Given the description of an element on the screen output the (x, y) to click on. 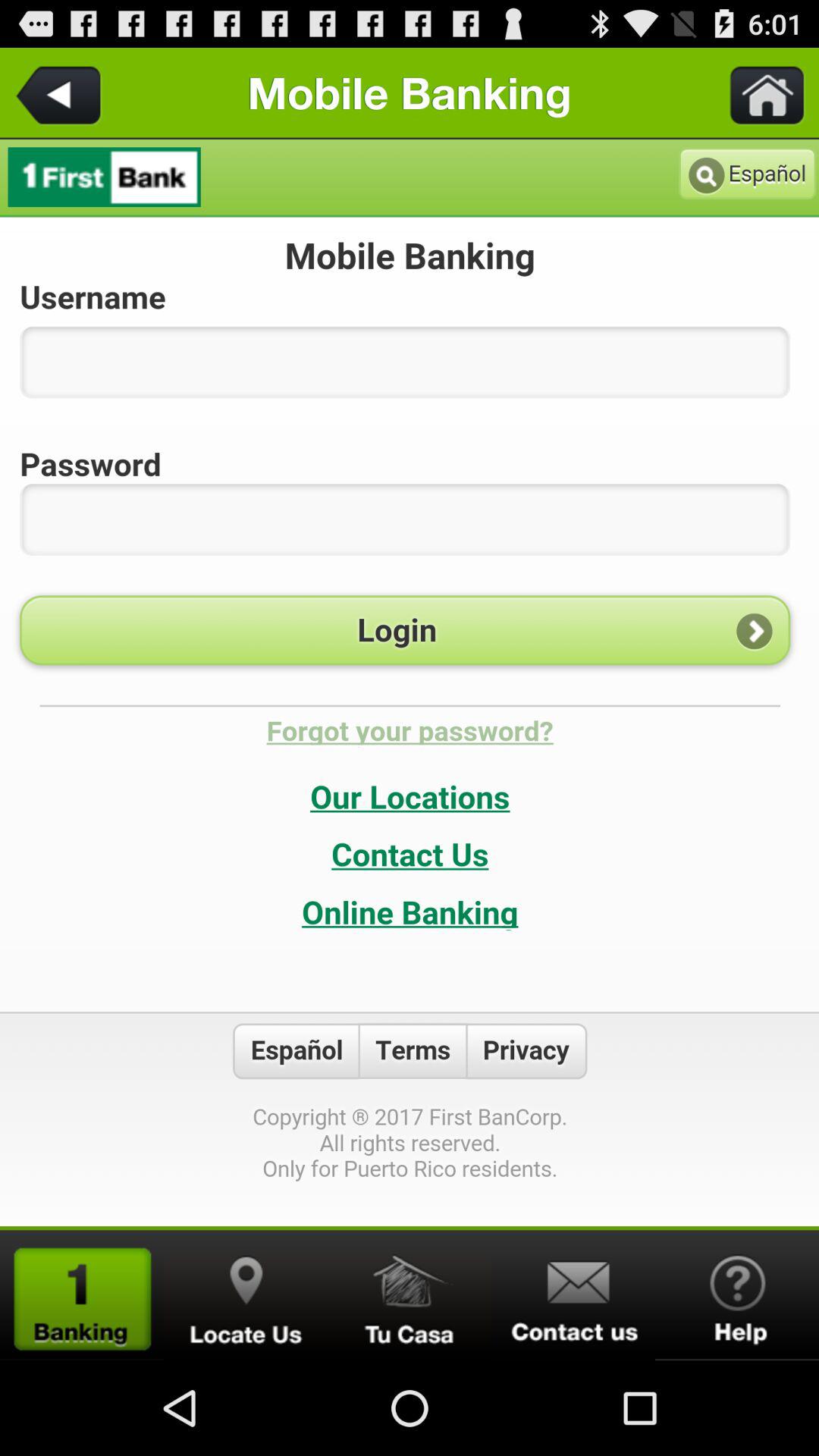
toggle help menu (737, 1295)
